Given the description of an element on the screen output the (x, y) to click on. 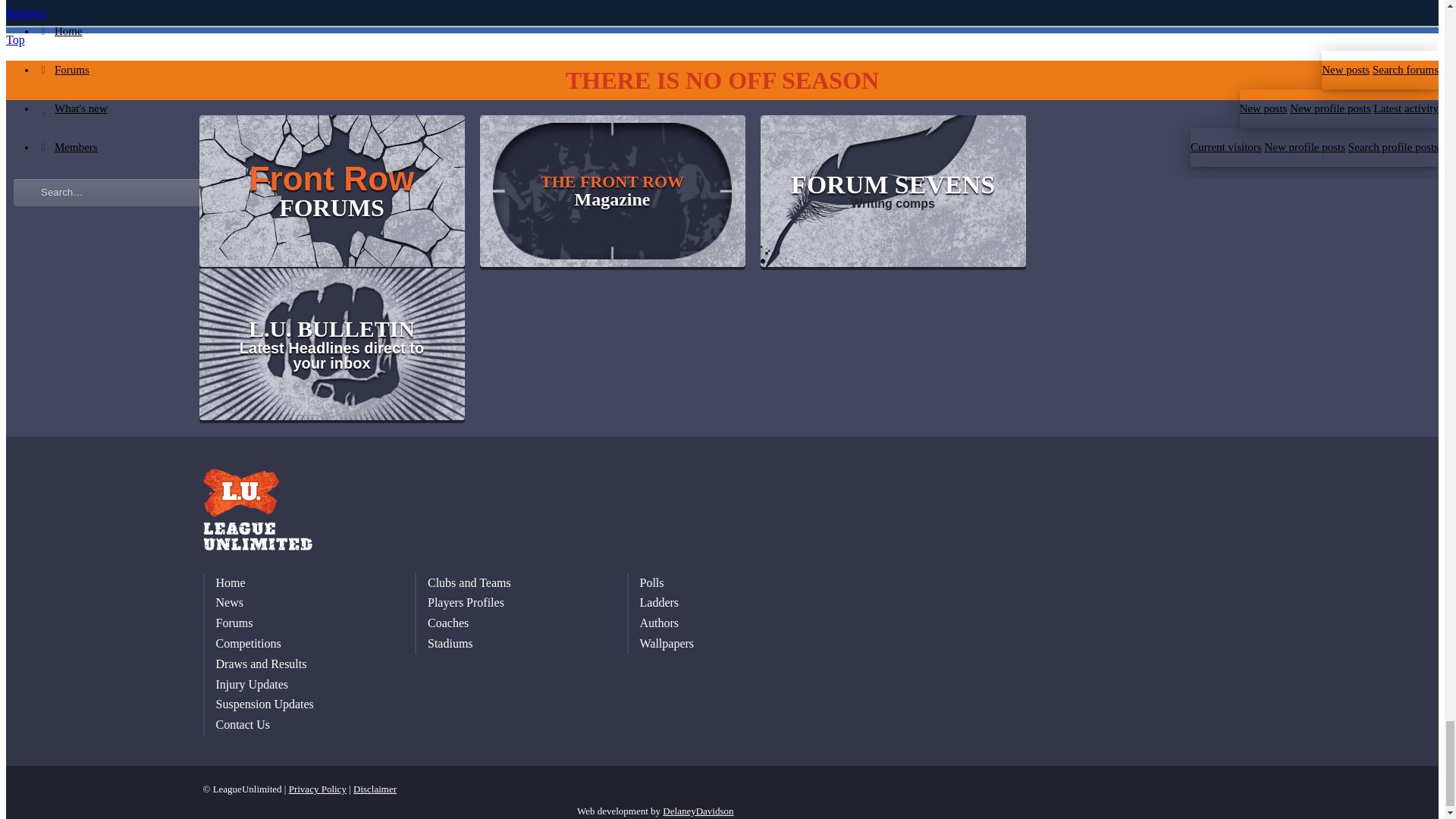
Top (14, 39)
